Given the description of an element on the screen output the (x, y) to click on. 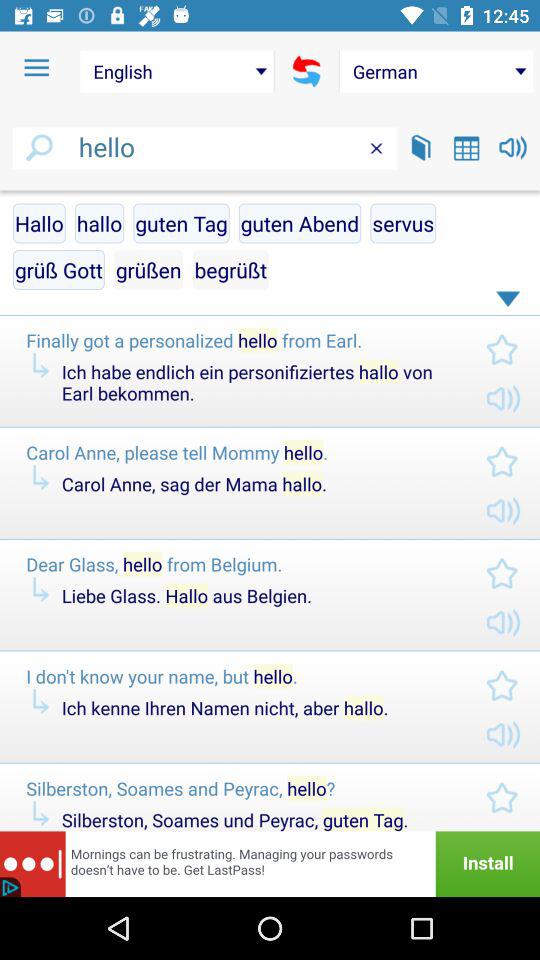
swap translation languages (306, 71)
